Given the description of an element on the screen output the (x, y) to click on. 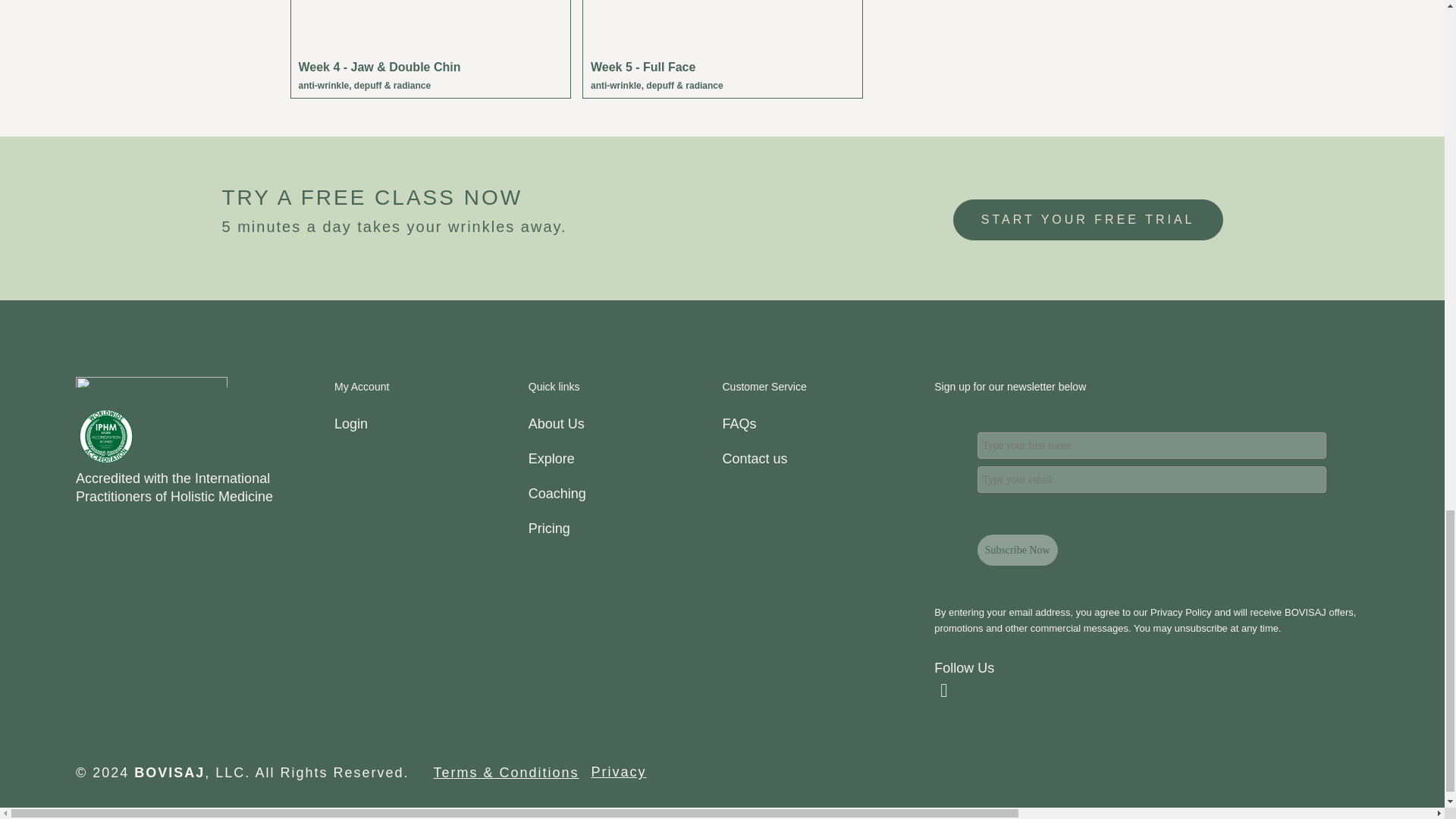
Login (431, 423)
START YOUR FREE TRIAL (1088, 219)
